Given the description of an element on the screen output the (x, y) to click on. 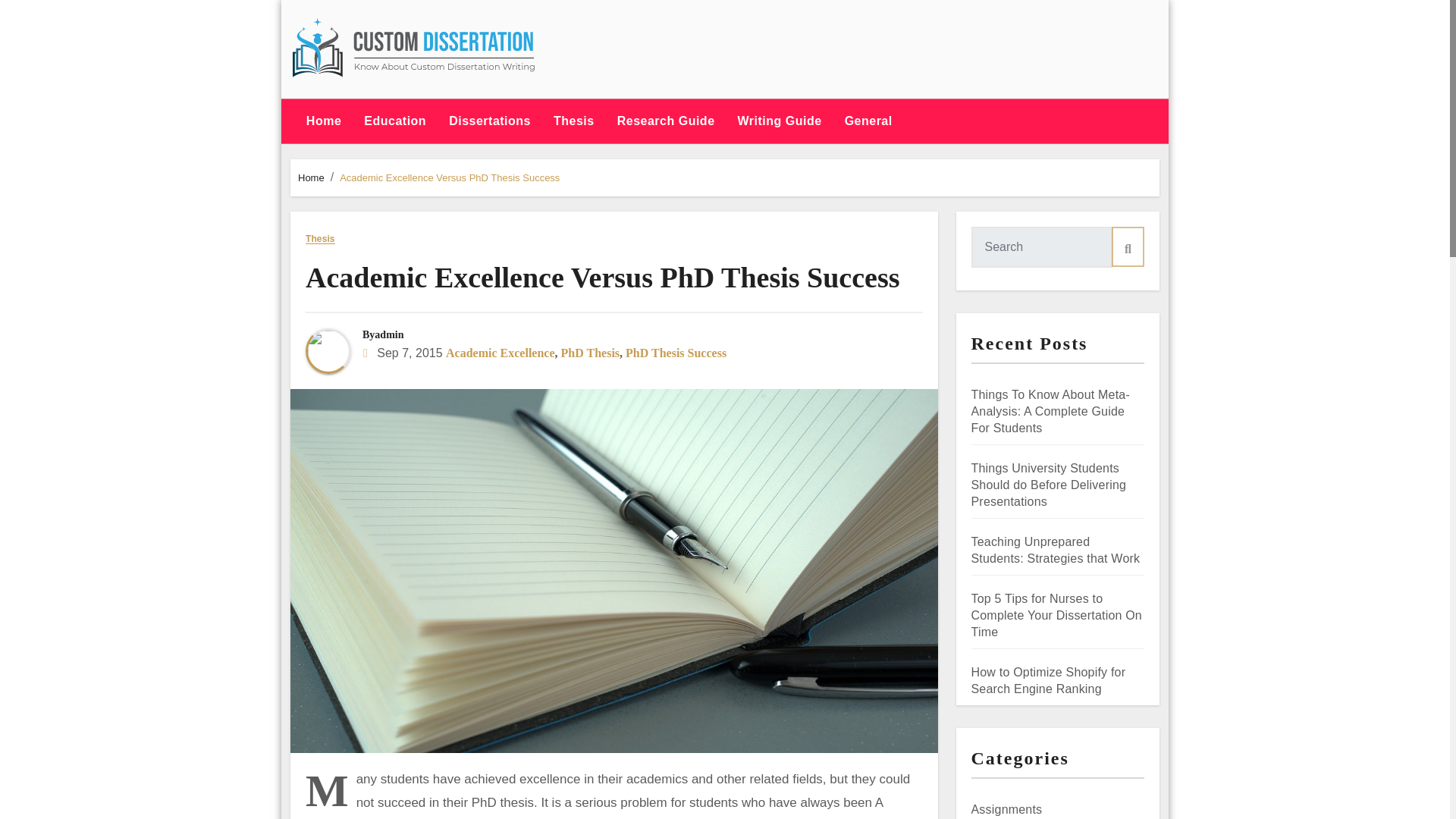
Thesis (573, 121)
Research Guide (665, 121)
General (868, 121)
Education (395, 121)
Dissertations (489, 121)
Writing Guide (779, 121)
Home (323, 121)
Permalink to: Academic Excellence Versus PhD Thesis Success (602, 277)
